Given the description of an element on the screen output the (x, y) to click on. 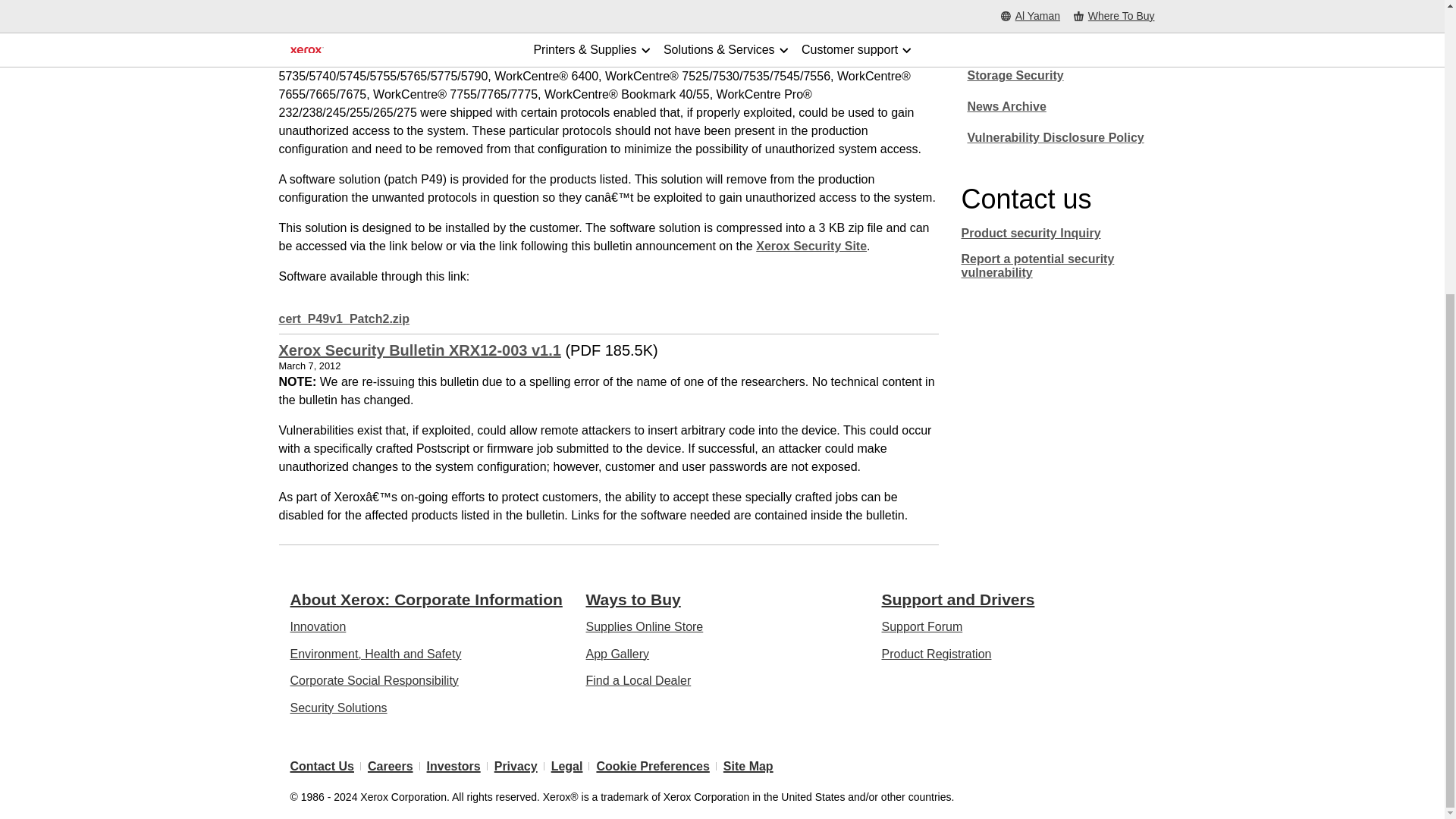
Security at Xerox (810, 245)
